Given the description of an element on the screen output the (x, y) to click on. 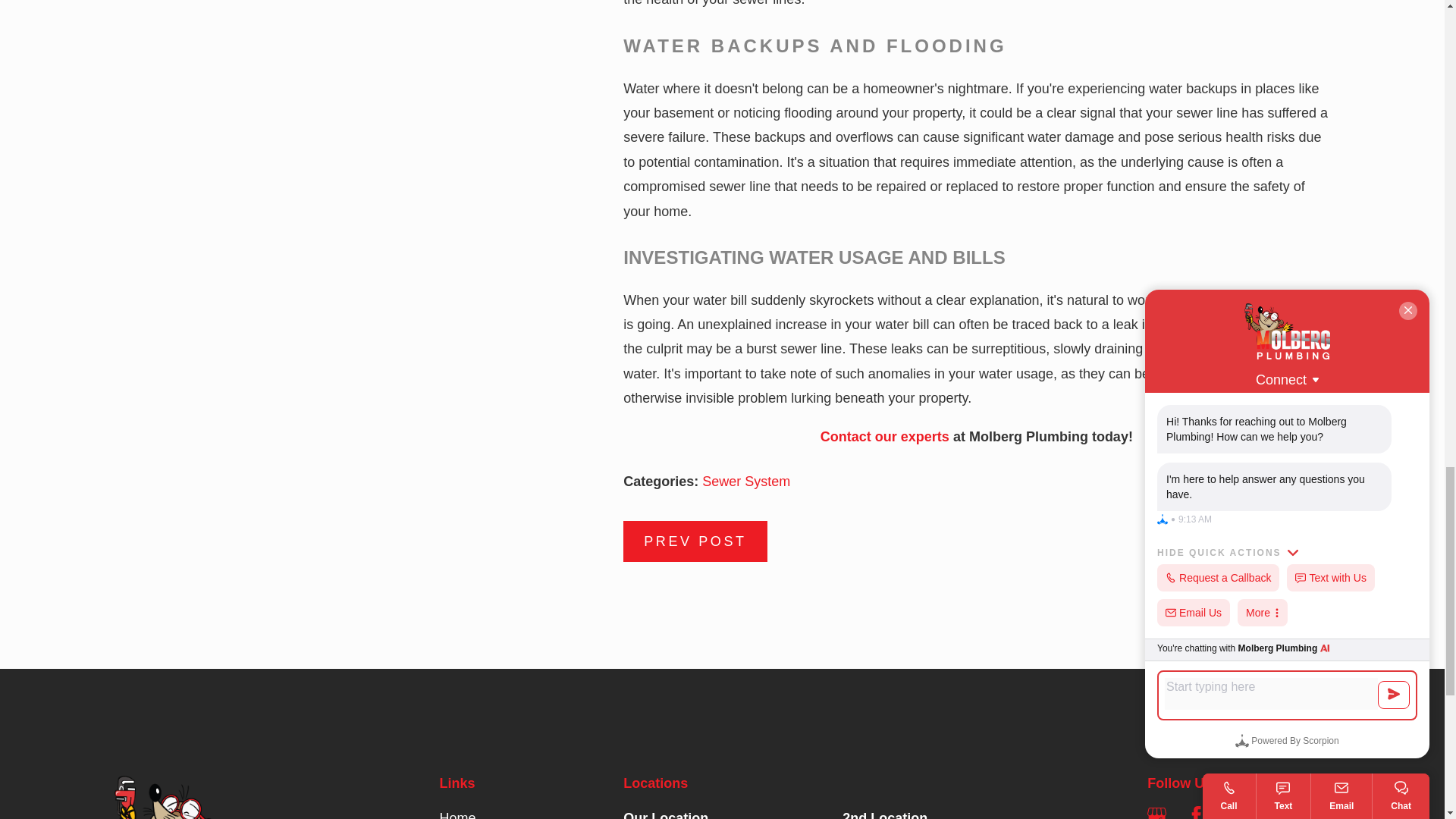
Facebook (1195, 812)
Google Business Profile (1156, 812)
Home (224, 797)
